Given the description of an element on the screen output the (x, y) to click on. 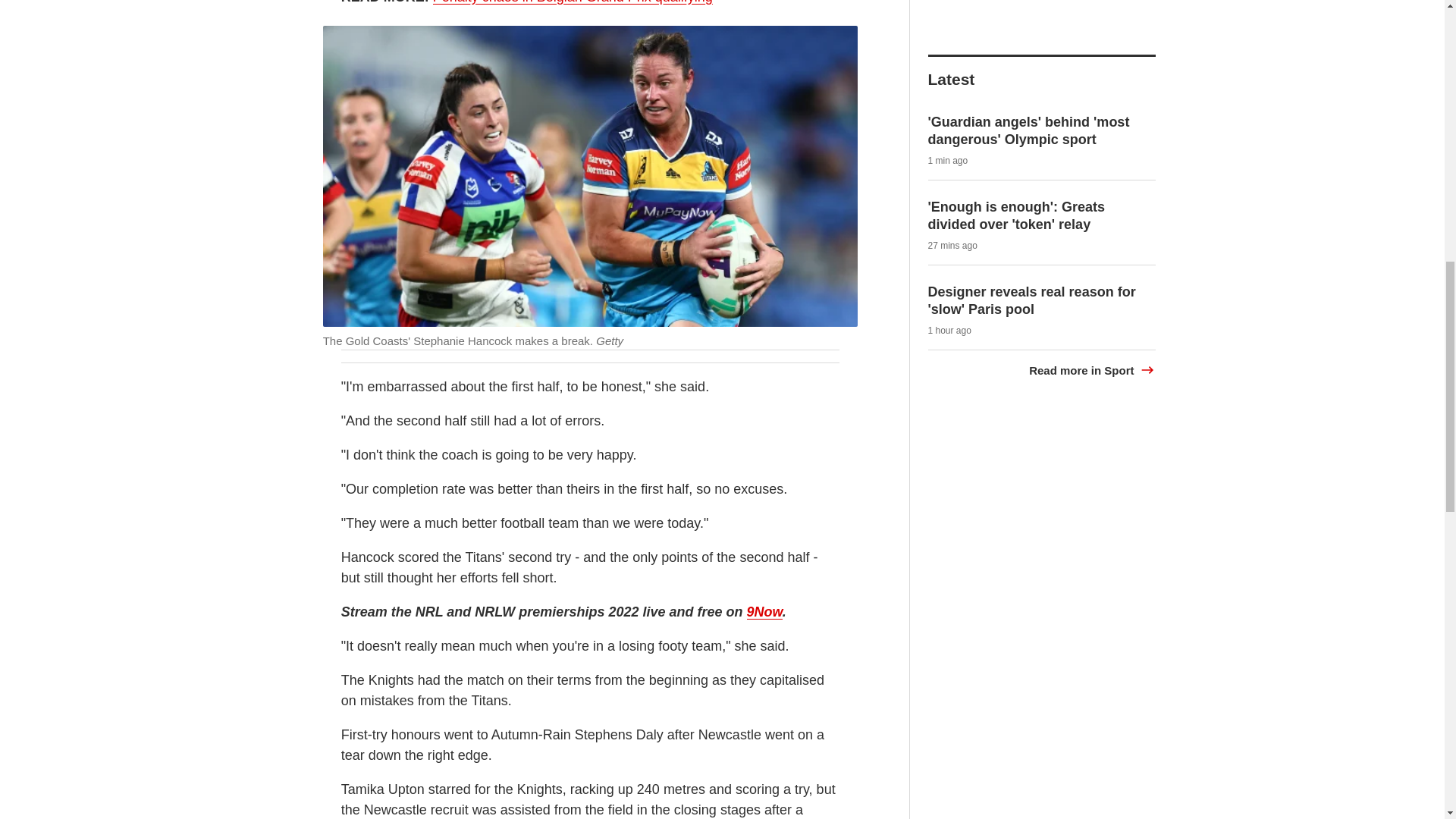
9Now (763, 611)
Penalty chaos in Belgian Grand Prix qualifying (572, 2)
